Given the description of an element on the screen output the (x, y) to click on. 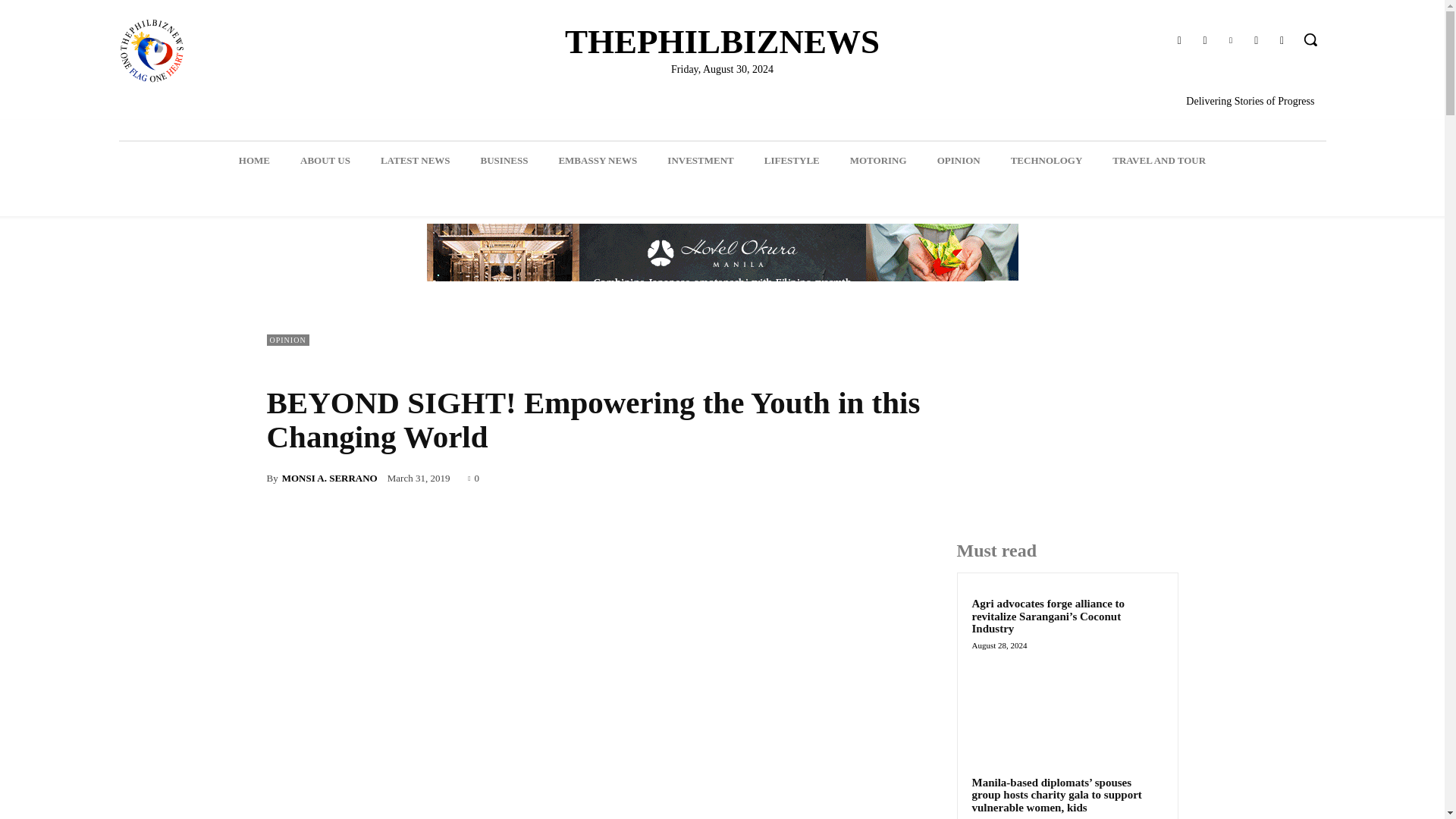
MOTORING (877, 160)
EMBASSY NEWS (597, 160)
INVESTMENT (700, 160)
BUSINESS (504, 160)
HOME (254, 160)
ABOUT US (325, 160)
Facebook (1179, 40)
TRAVEL AND TOUR (1159, 160)
Linkedin (1230, 40)
TECHNOLOGY (1046, 160)
